Given the description of an element on the screen output the (x, y) to click on. 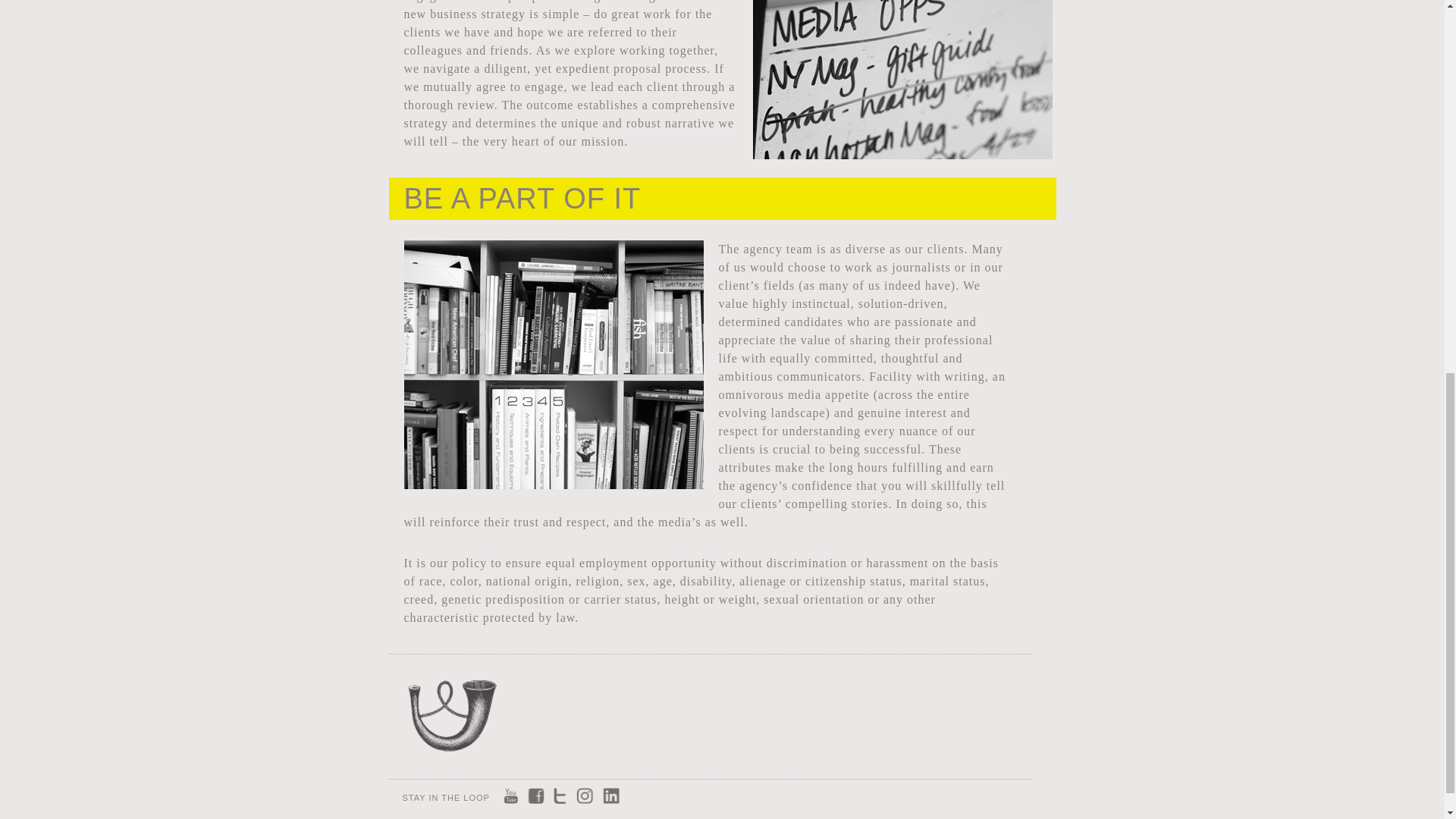
CLIENTS (709, 715)
CONTACT (965, 715)
SERVICES (580, 715)
ABOUT (452, 715)
RESULTS (837, 715)
